Given the description of an element on the screen output the (x, y) to click on. 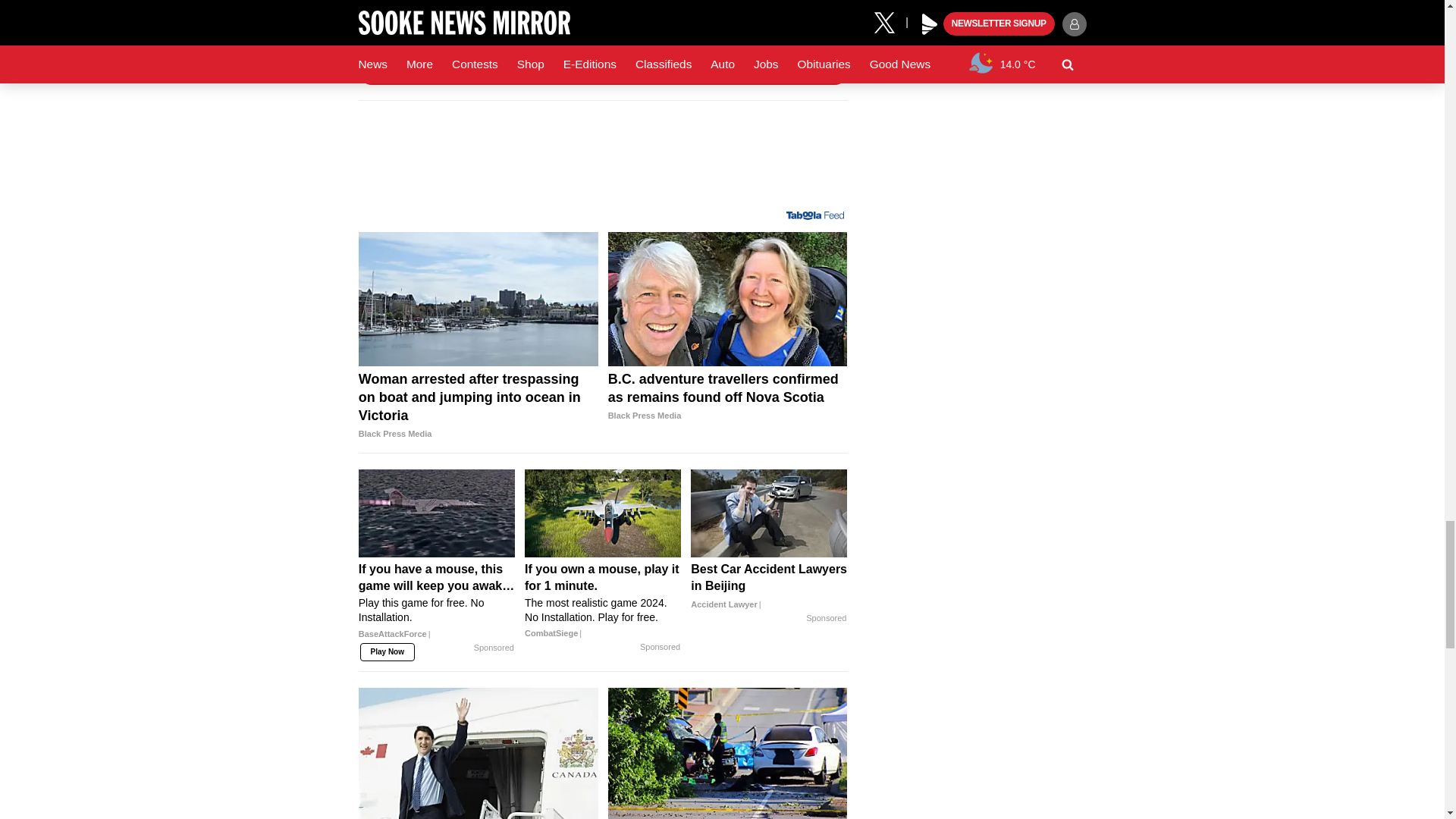
Show Comments (602, 71)
